Given the description of an element on the screen output the (x, y) to click on. 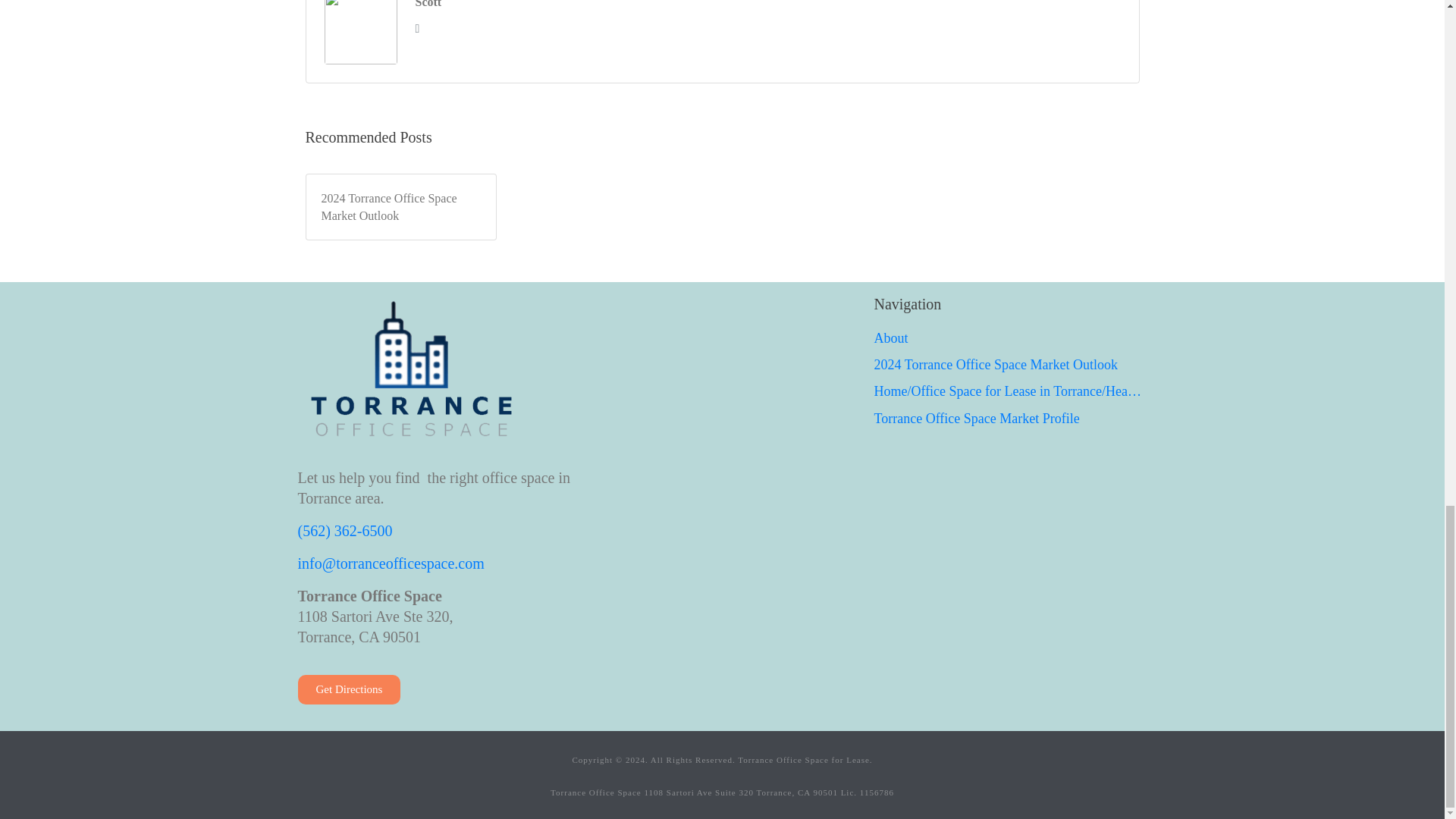
2024 Torrance Office Space Market Outlook (1010, 364)
About (1010, 338)
Torrance Office Space Market Profile (1010, 418)
2024 Torrance Office Space Market Outlook (400, 206)
Scott (428, 6)
Get Directions (348, 689)
